Given the description of an element on the screen output the (x, y) to click on. 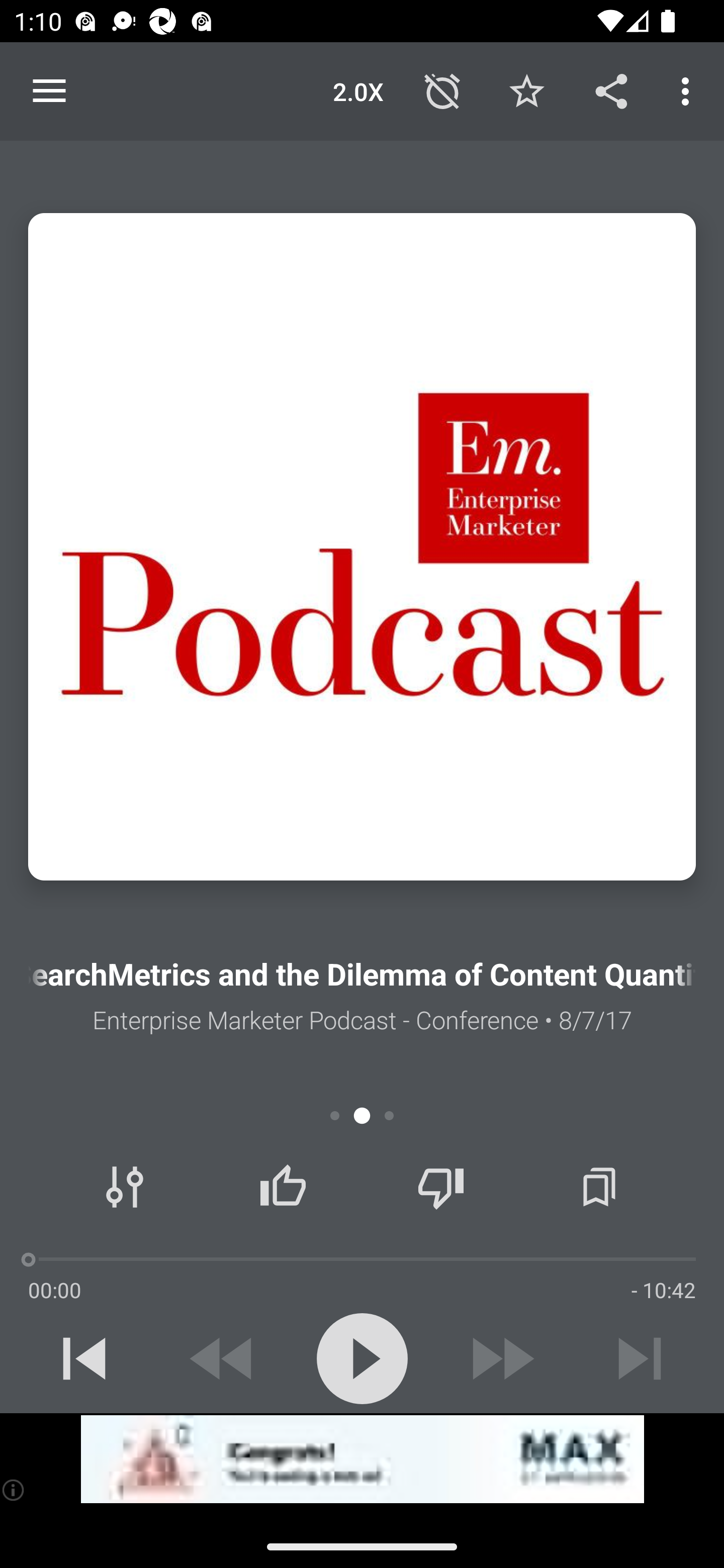
Open navigation sidebar (49, 91)
2.0X (357, 90)
Sleep Timer (442, 90)
Favorite (526, 90)
Share (611, 90)
More options (688, 90)
Episode description (361, 547)
Audio effects (124, 1186)
Thumbs up (283, 1186)
Thumbs down (440, 1186)
Chapters / Bookmarks (598, 1186)
- 10:42 (663, 1289)
Previous track (84, 1358)
Skip 15s backward (222, 1358)
Play / Pause (362, 1358)
Skip 30s forward (500, 1358)
Next track (639, 1358)
app-monetization (362, 1459)
(i) (14, 1489)
